Given the description of an element on the screen output the (x, y) to click on. 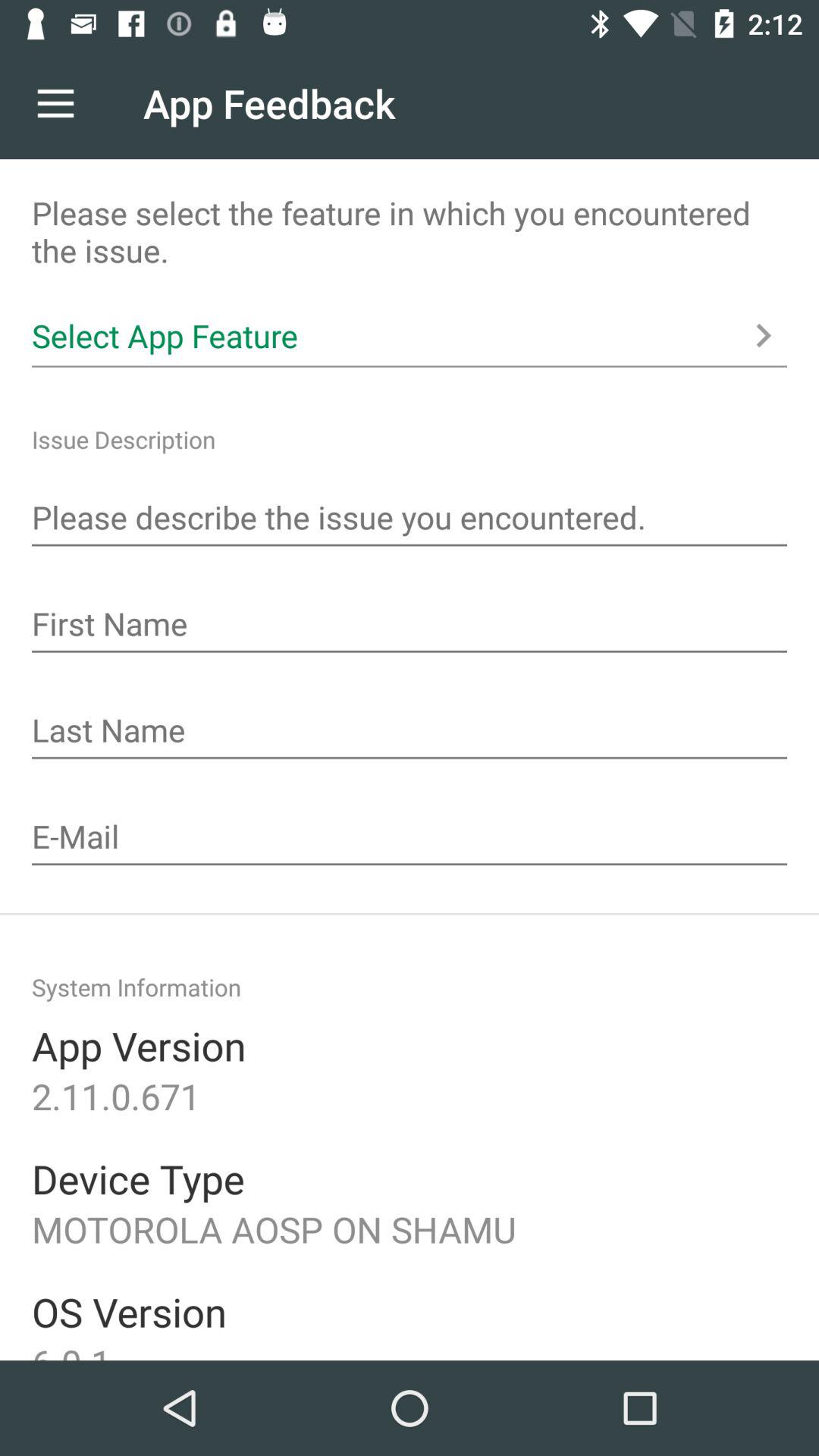
enter your first name (409, 625)
